Given the description of an element on the screen output the (x, y) to click on. 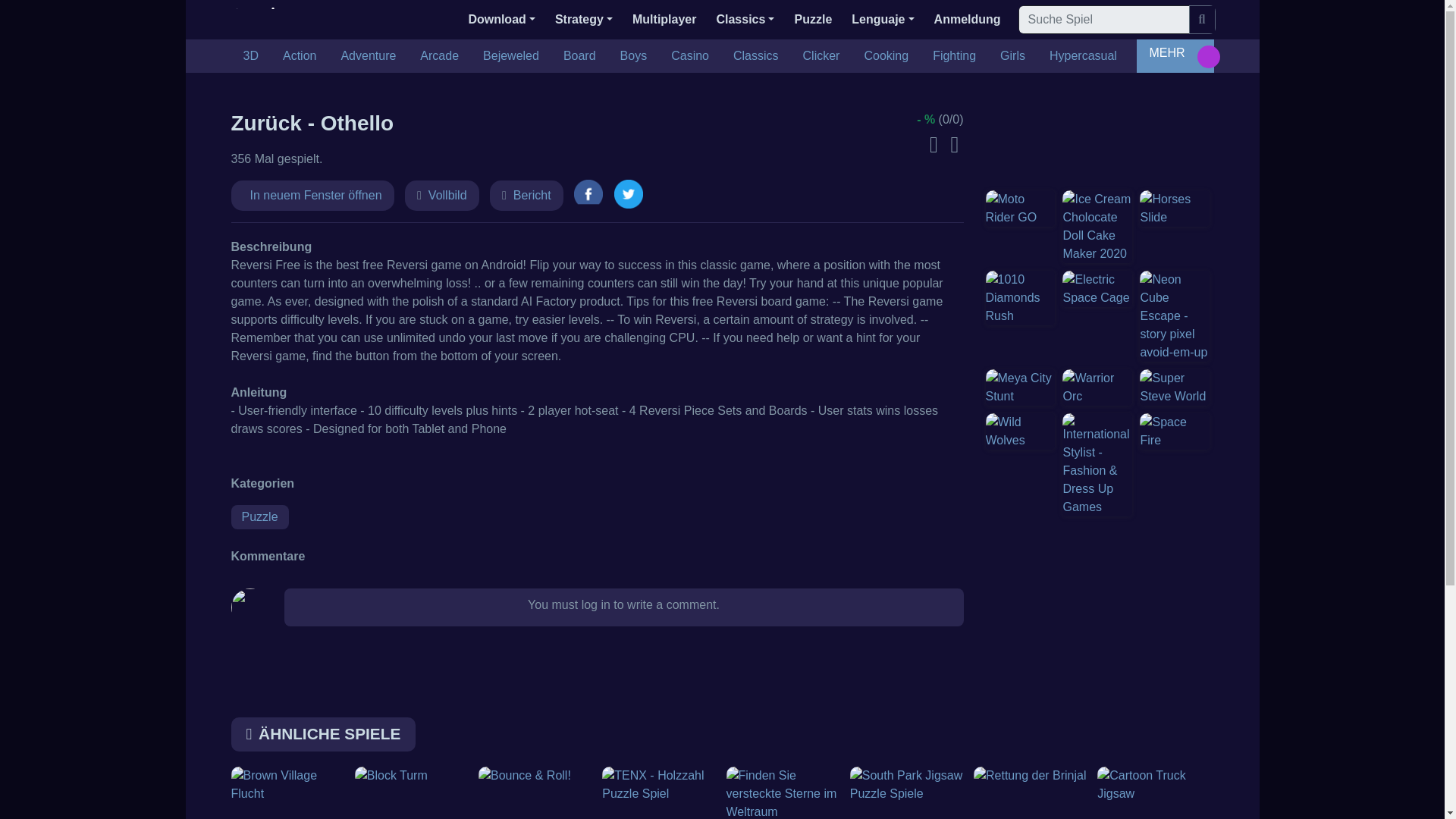
Fighting (954, 55)
Classics (755, 55)
Casino (689, 55)
Cooking (885, 55)
Action (299, 55)
Lenguaje (882, 19)
3D (249, 55)
Board (579, 55)
Bejeweled (510, 55)
Clicker (820, 55)
Classics (745, 19)
Multiplayer (663, 19)
Puzzle (812, 19)
Boys (633, 55)
Strategy (583, 19)
